Given the description of an element on the screen output the (x, y) to click on. 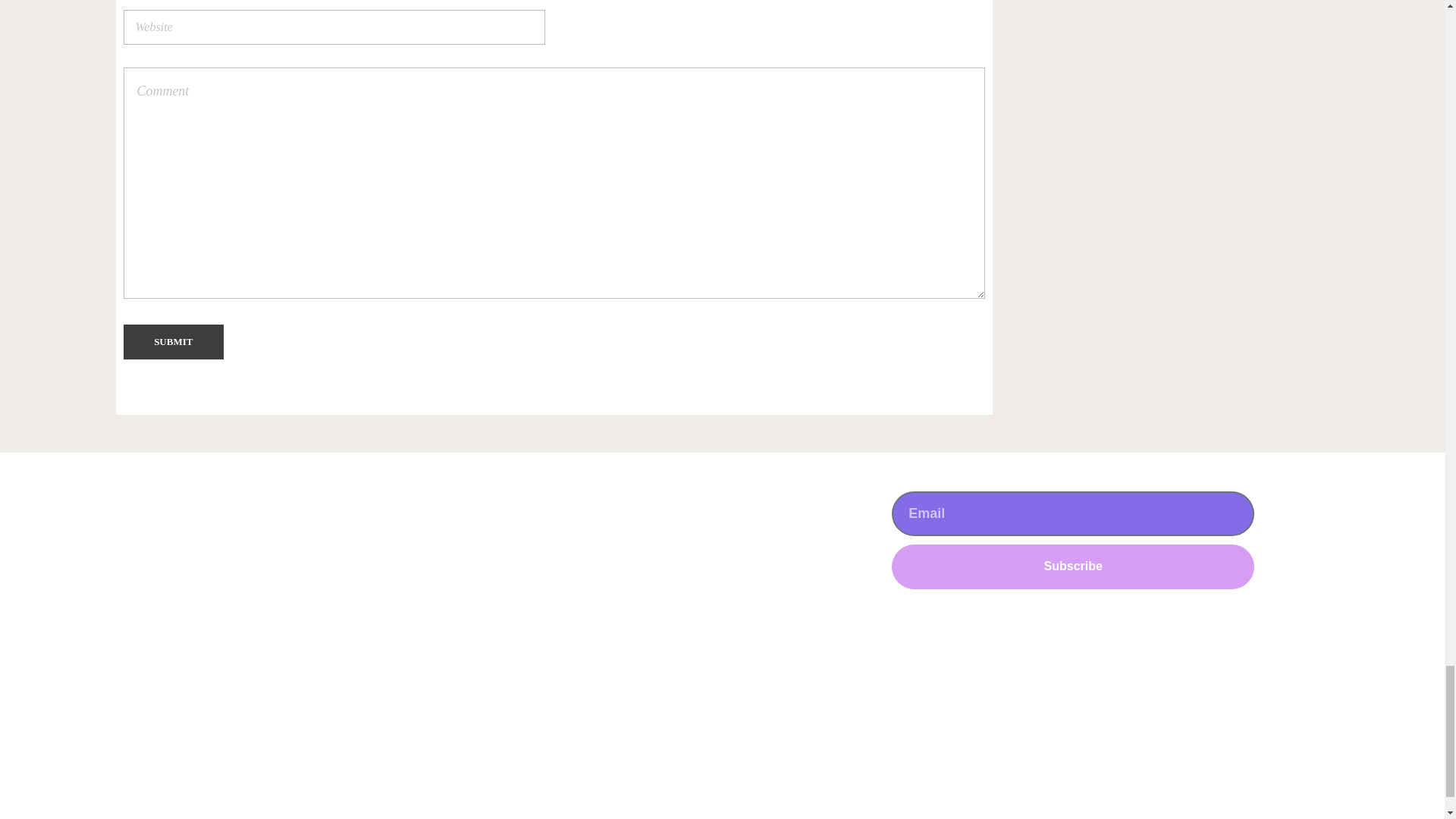
Submit (173, 341)
Submit (173, 341)
